Given the description of an element on the screen output the (x, y) to click on. 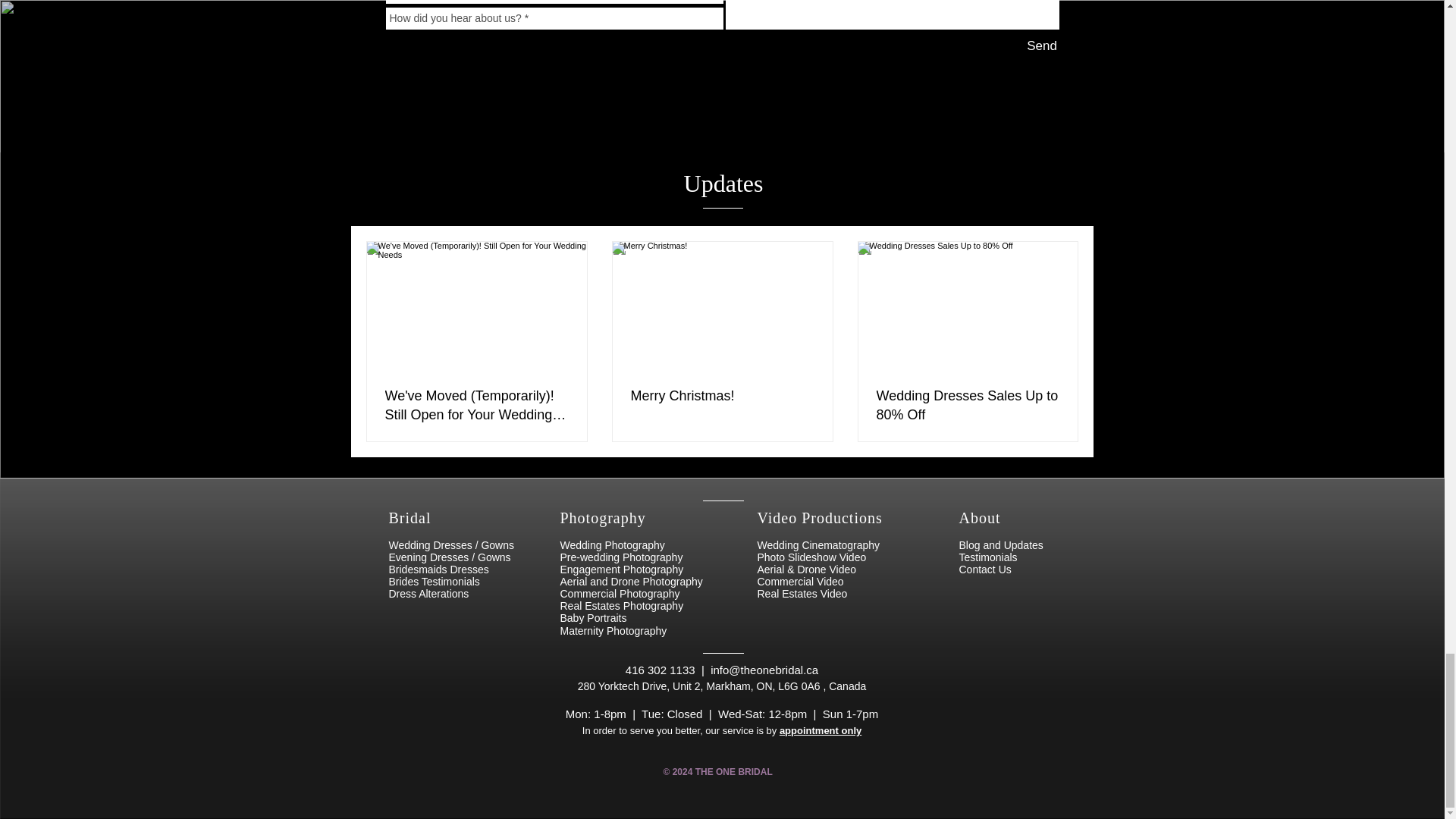
Merry Christmas! (721, 395)
Send (1041, 45)
Bridesmaids Dresses (437, 569)
